Given the description of an element on the screen output the (x, y) to click on. 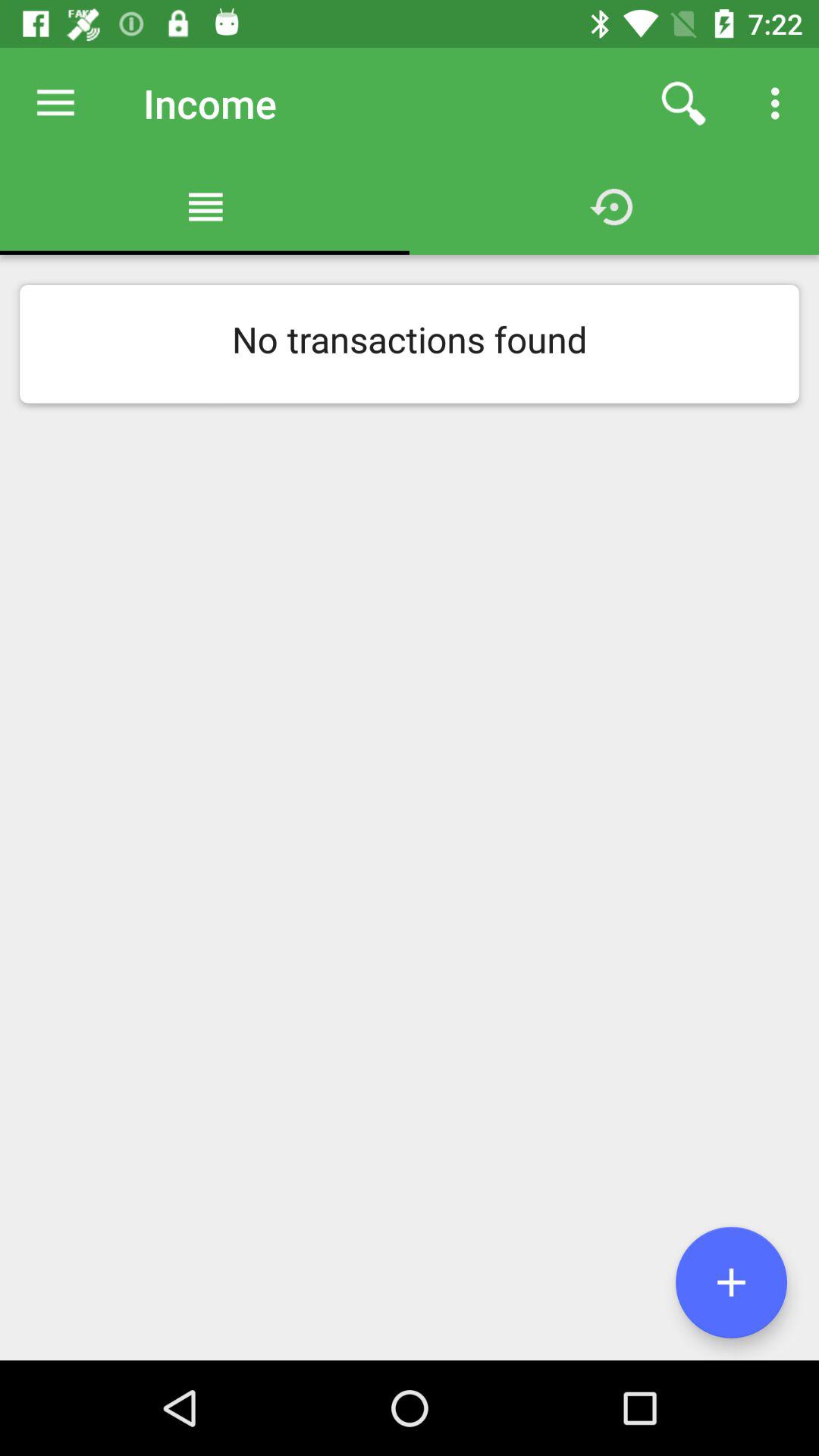
launch item below no transactions found item (731, 1282)
